Given the description of an element on the screen output the (x, y) to click on. 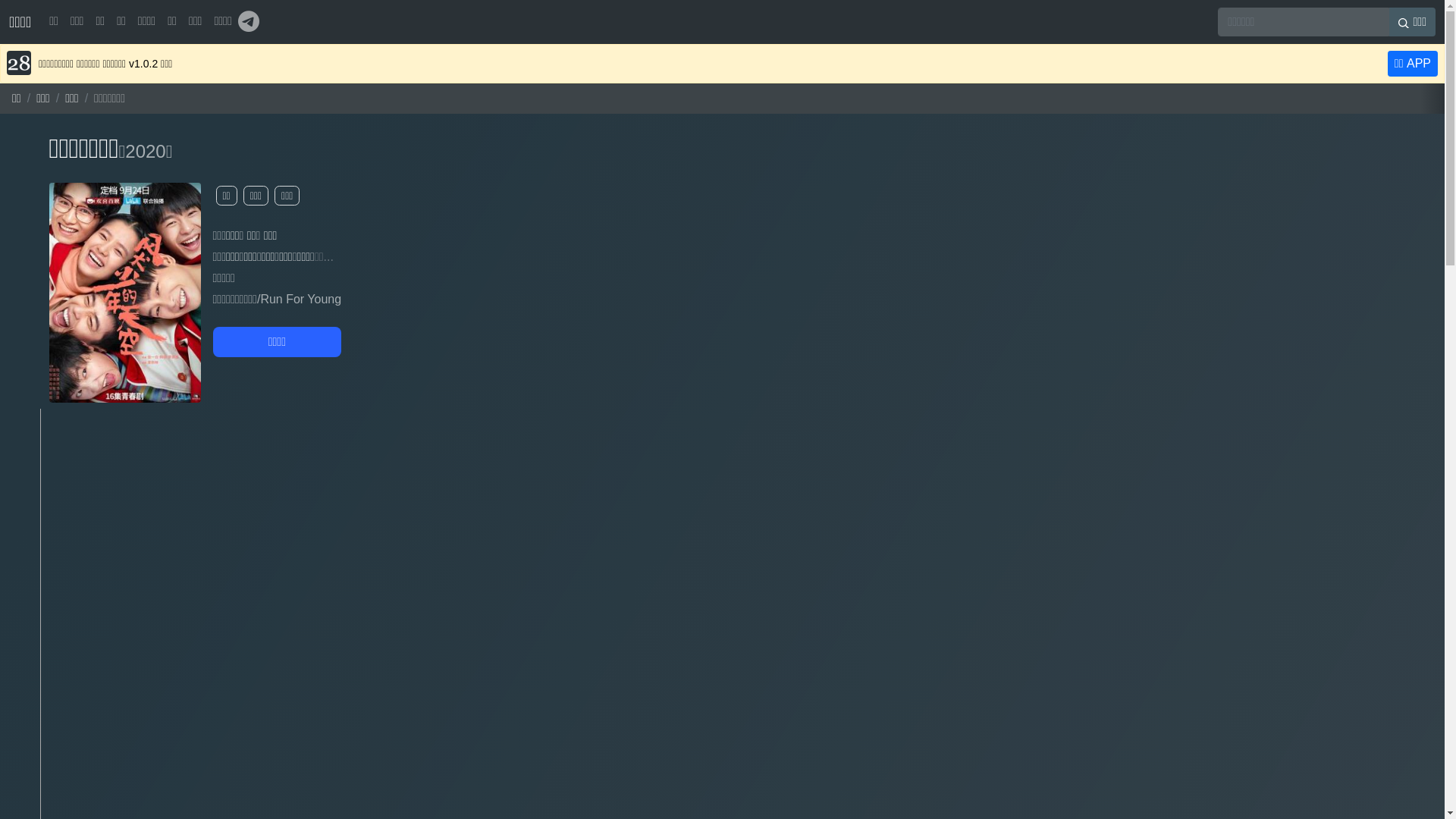
2020 Element type: text (145, 151)
